Given the description of an element on the screen output the (x, y) to click on. 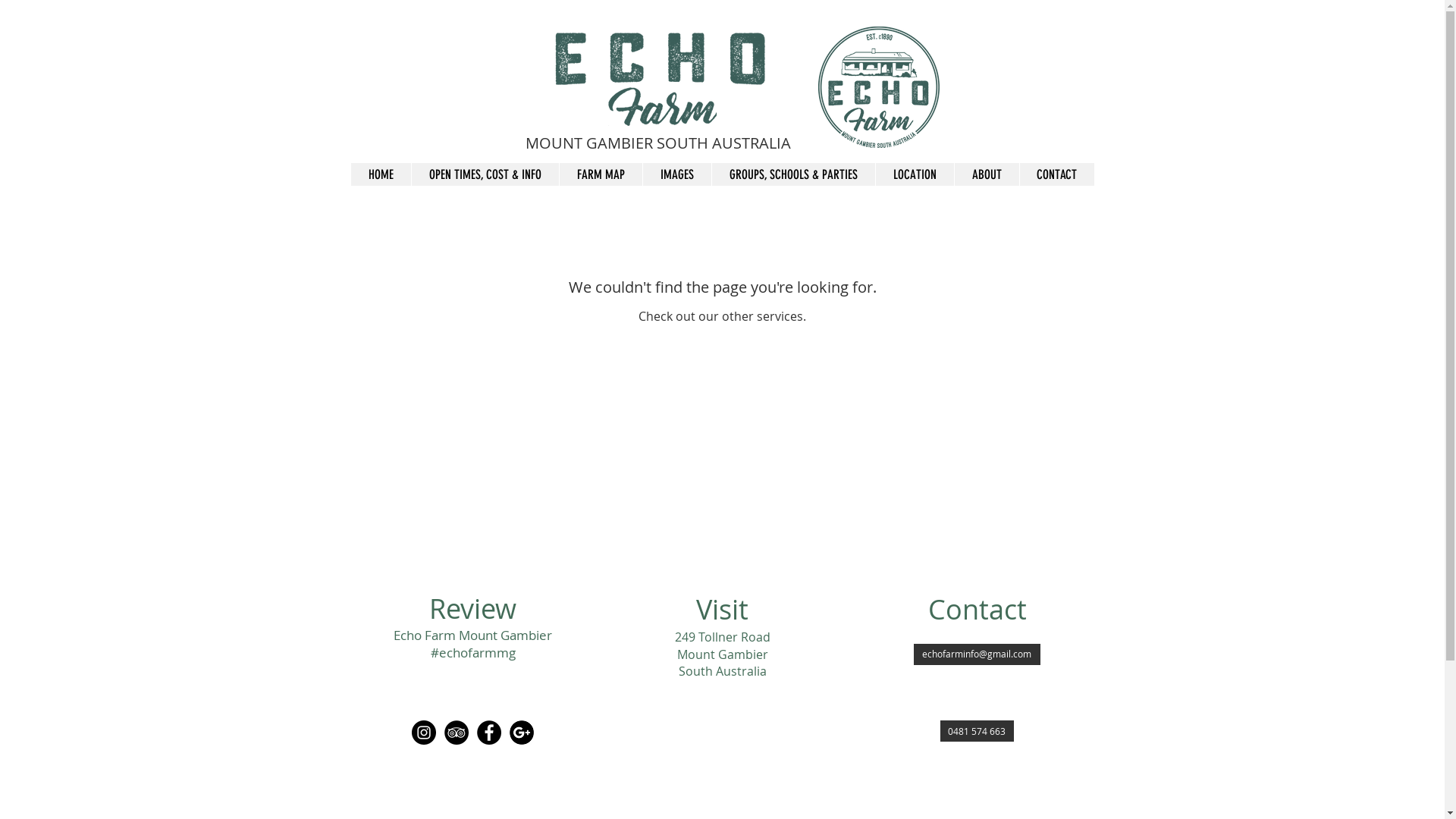
FARM MAP Element type: text (599, 174)
CONTACT Element type: text (1056, 174)
OPEN TIMES, COST & INFO Element type: text (484, 174)
echofarminfo@gmail.com Element type: text (976, 654)
HOME Element type: text (380, 174)
LOCATION Element type: text (914, 174)
ABOUT Element type: text (986, 174)
GROUPS, SCHOOLS & PARTIES Element type: text (793, 174)
IMAGES Element type: text (675, 174)
0481 574 663 Element type: text (976, 730)
